Given the description of an element on the screen output the (x, y) to click on. 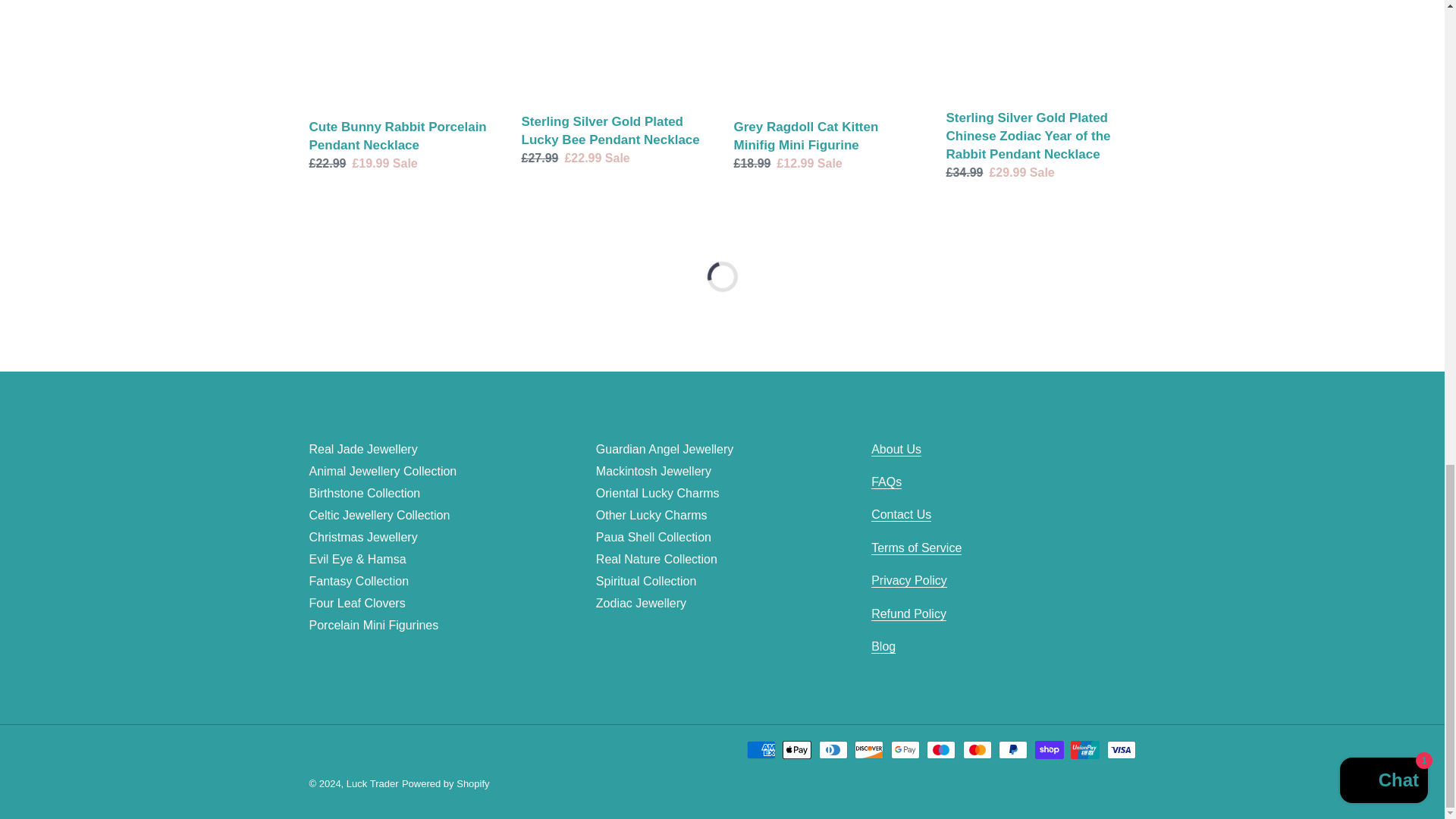
Contact Us (900, 514)
Terms of Service (915, 548)
FAQs (885, 481)
Privacy Policy (908, 581)
Refund Policy (908, 613)
About Us (895, 449)
